Given the description of an element on the screen output the (x, y) to click on. 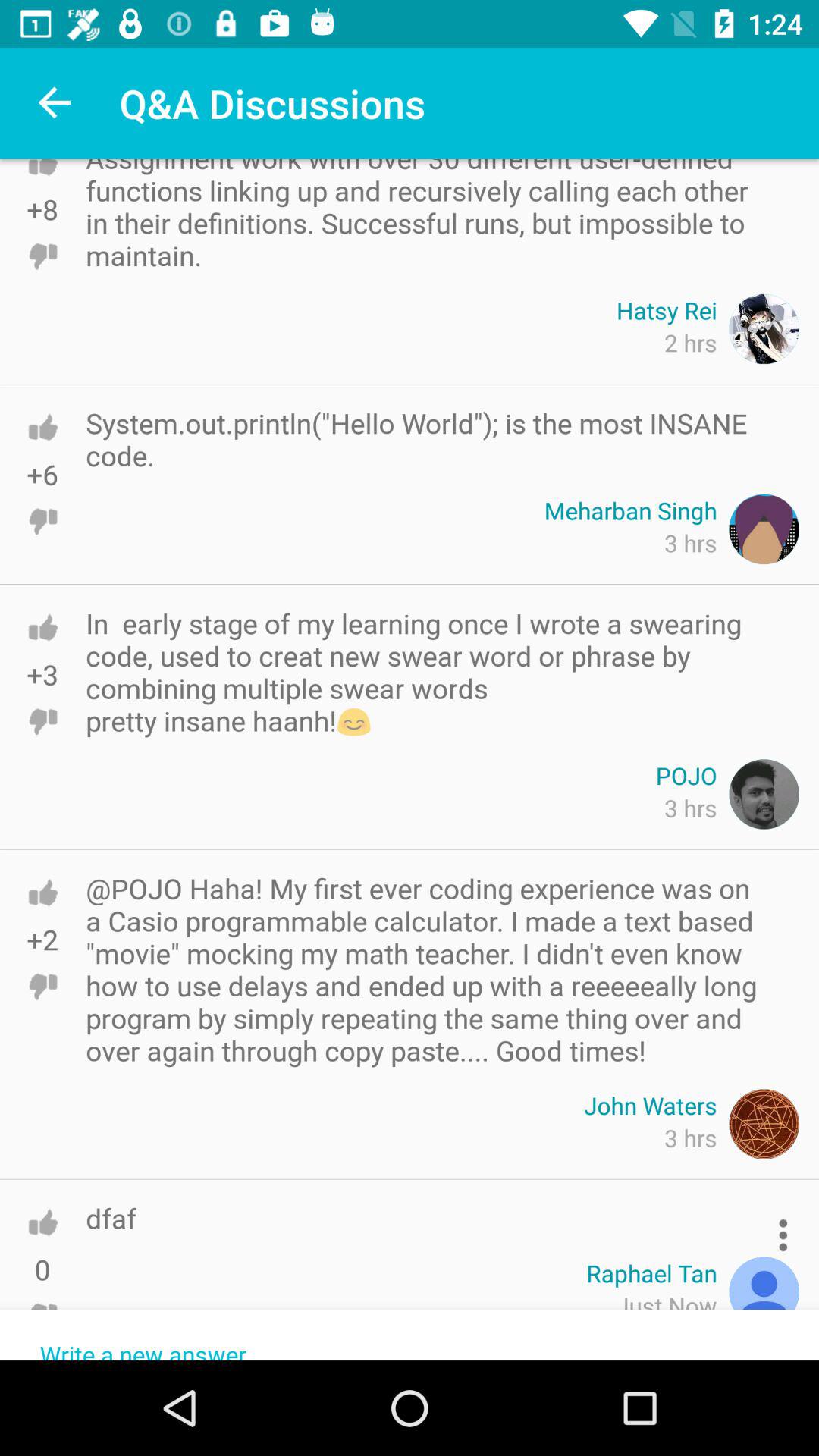
upvote comment (42, 1222)
